Given the description of an element on the screen output the (x, y) to click on. 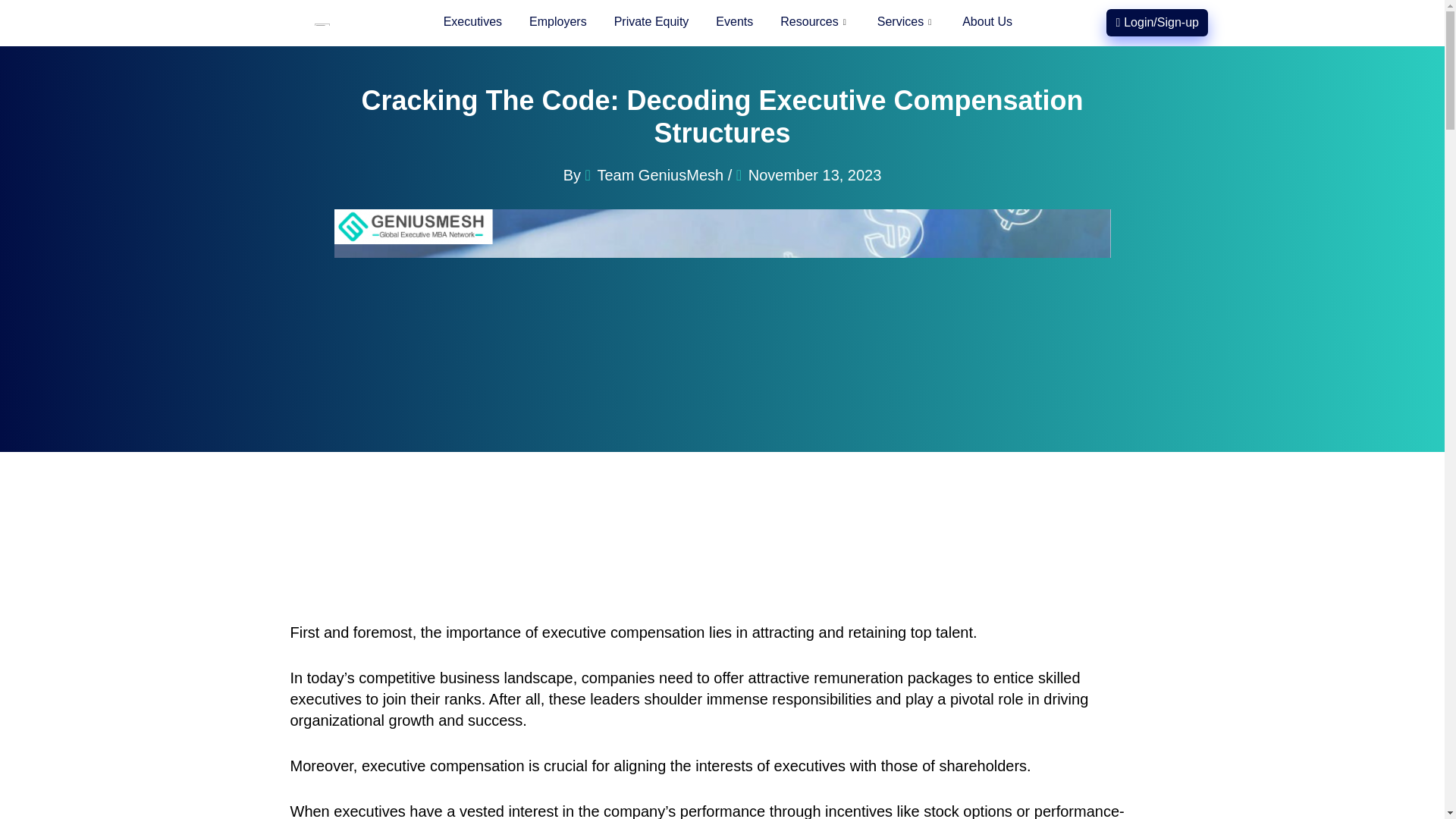
Employers (557, 22)
Resources (815, 22)
Team GeniusMesh (656, 175)
View all posts by Team GeniusMesh (656, 175)
Services (905, 22)
About Us (986, 22)
Private Equity (651, 22)
Executives (473, 22)
Events (734, 22)
